Given the description of an element on the screen output the (x, y) to click on. 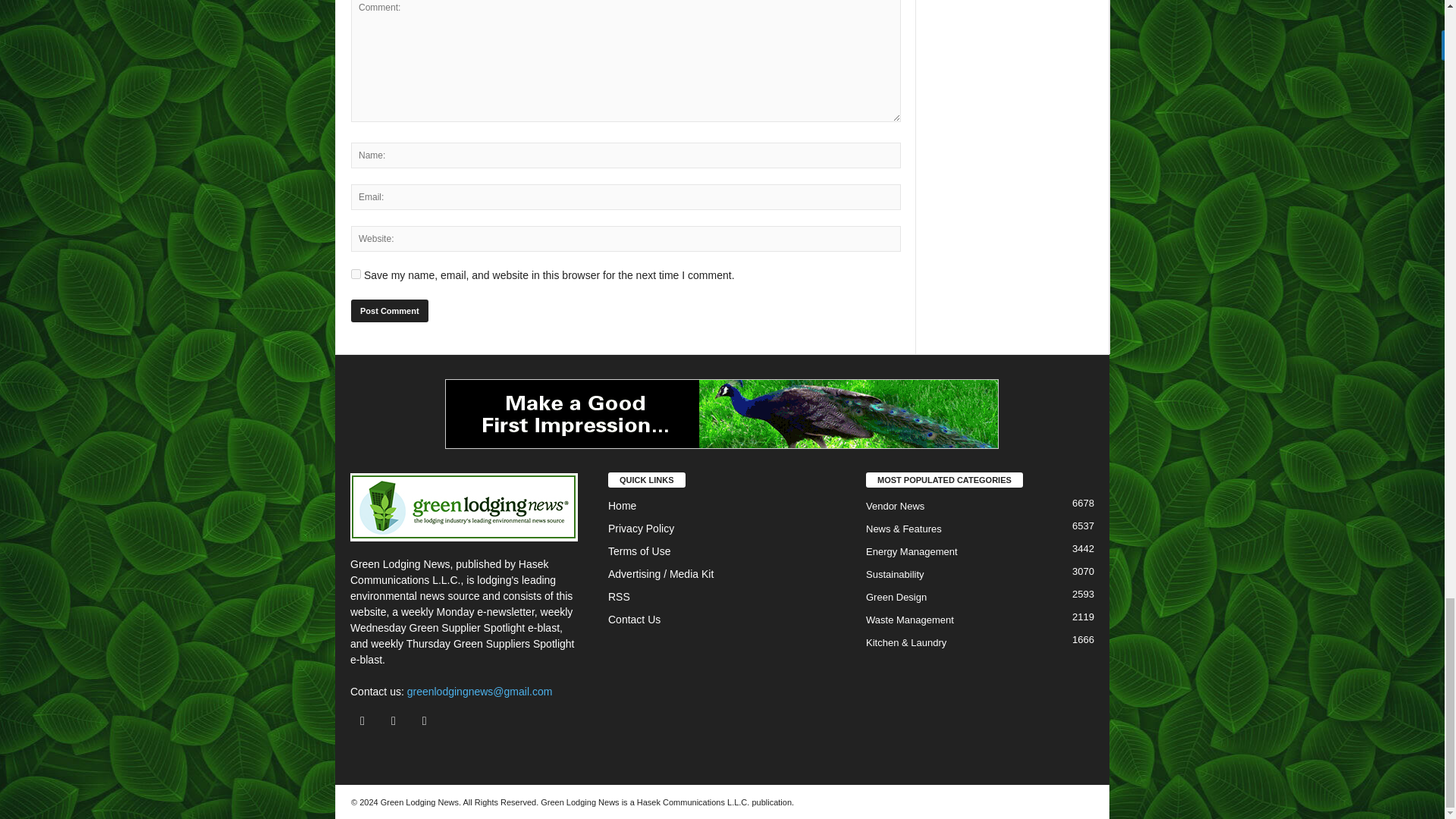
Post Comment (389, 310)
Facebook (365, 720)
yes (355, 274)
